Given the description of an element on the screen output the (x, y) to click on. 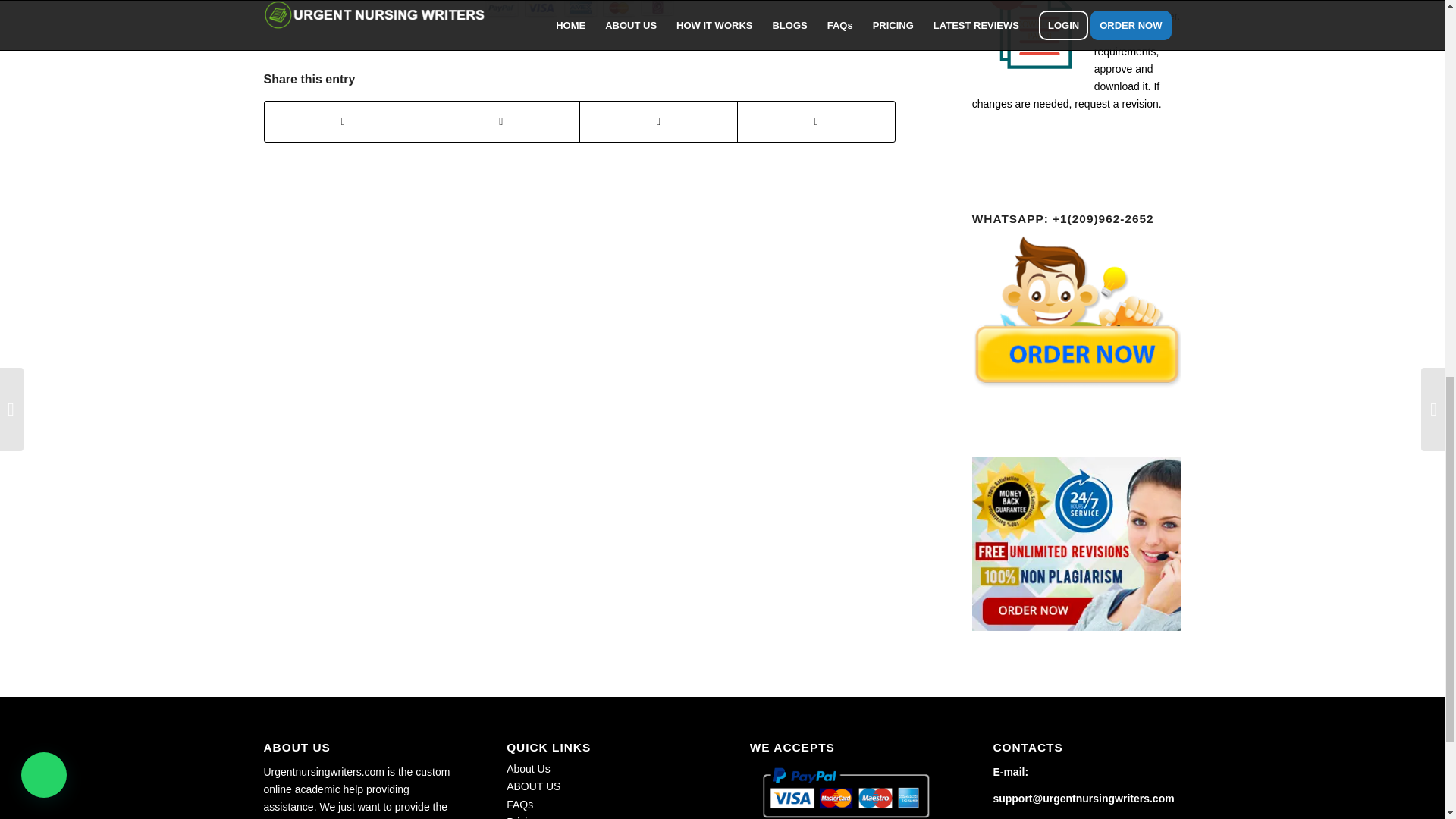
Pricing (522, 817)
ABOUT US (533, 786)
FAQs (519, 804)
About Us (528, 768)
